Given the description of an element on the screen output the (x, y) to click on. 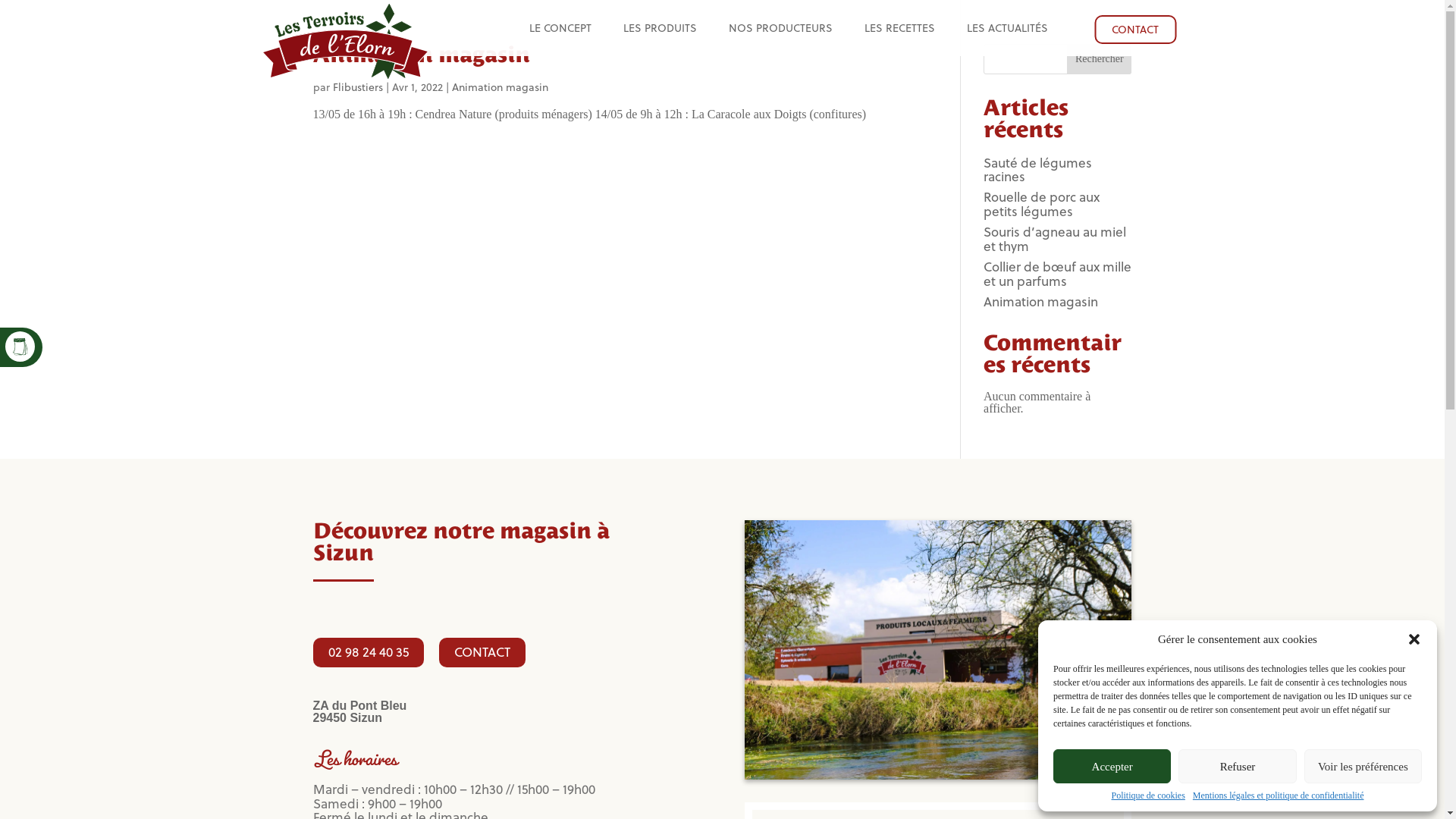
Politique de cookies Element type: text (1148, 795)
Accepter Element type: text (1111, 766)
Animation magasin Element type: text (420, 54)
LES RECETTES Element type: text (899, 29)
Flibustiers Element type: text (357, 86)
terroirs-elorn-sizun-boutique-ouverture Element type: hover (937, 648)
LES PRODUITS Element type: text (659, 29)
Animation magasin Element type: text (499, 86)
CONTACT Element type: text (1135, 29)
Animation magasin Element type: text (1040, 300)
LE CONCEPT Element type: text (560, 29)
Refuser Element type: text (1236, 766)
NOS PRODUCTEURS Element type: text (780, 29)
Rechercher Element type: text (1098, 58)
